Given the description of an element on the screen output the (x, y) to click on. 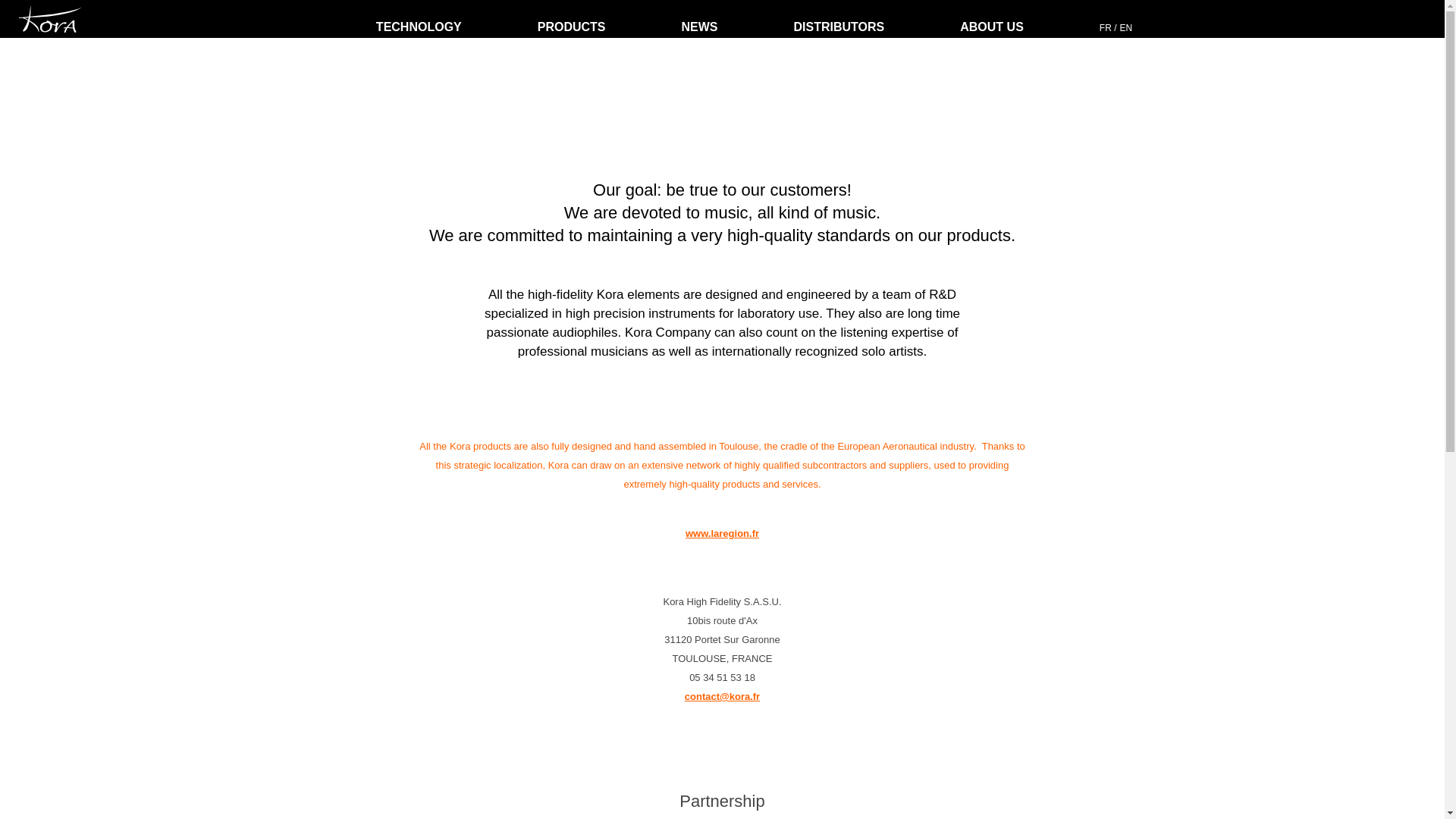
DISTRIBUTORS (839, 26)
NEWS (699, 26)
PRODUCTS (571, 26)
ABOUT US (991, 26)
EN (1125, 29)
FR (1107, 29)
www.laregion.fr (721, 532)
TECHNOLOGY (418, 26)
